Given the description of an element on the screen output the (x, y) to click on. 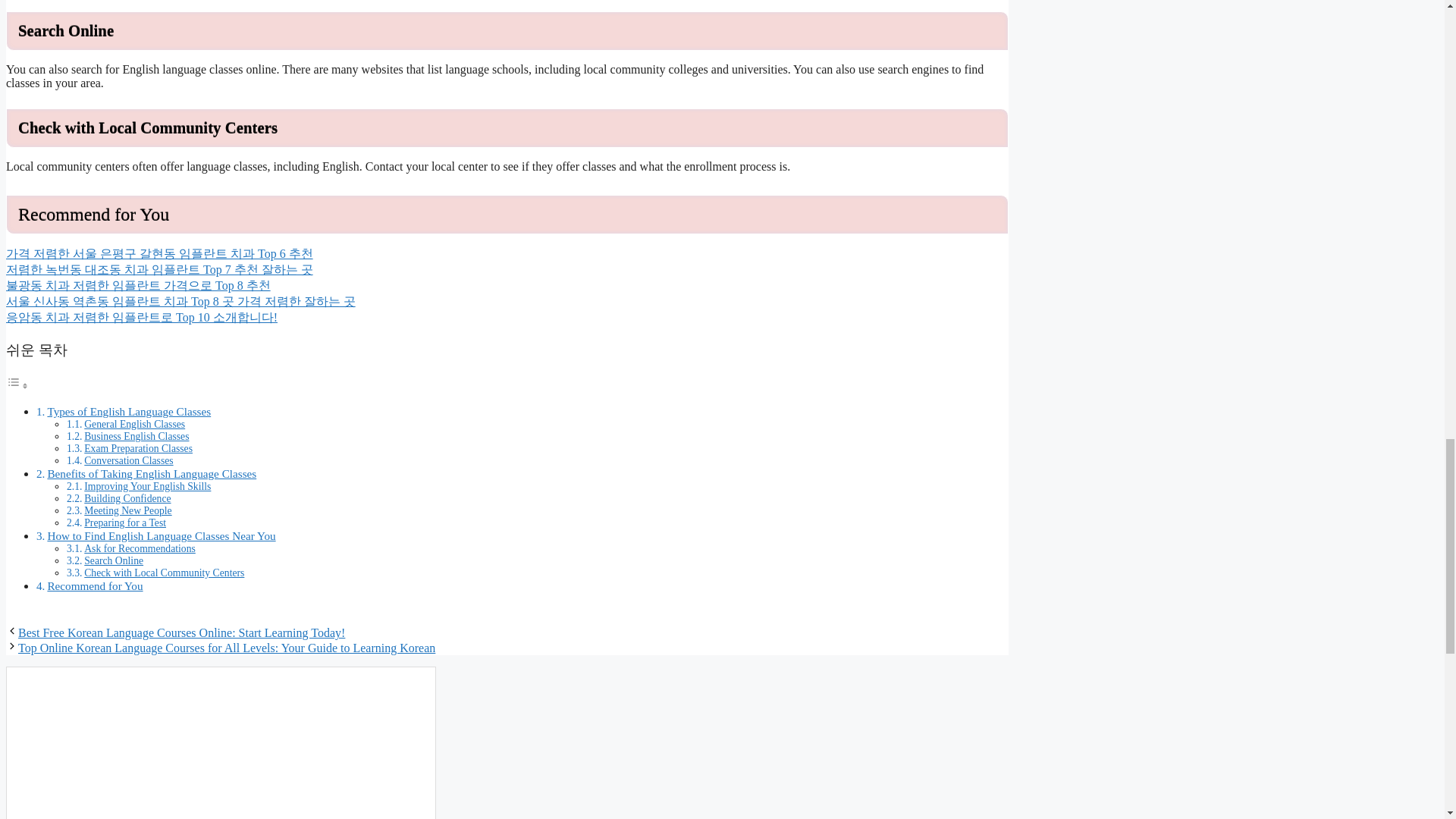
General English Classes (134, 423)
Ask for Recommendations (139, 548)
Recommend for You (94, 585)
Building Confidence (127, 498)
Check with Local Community Centers (164, 572)
General English Classes (134, 423)
Search Online (113, 560)
Types of English Language Classes (128, 410)
Ask for Recommendations (139, 548)
